Given the description of an element on the screen output the (x, y) to click on. 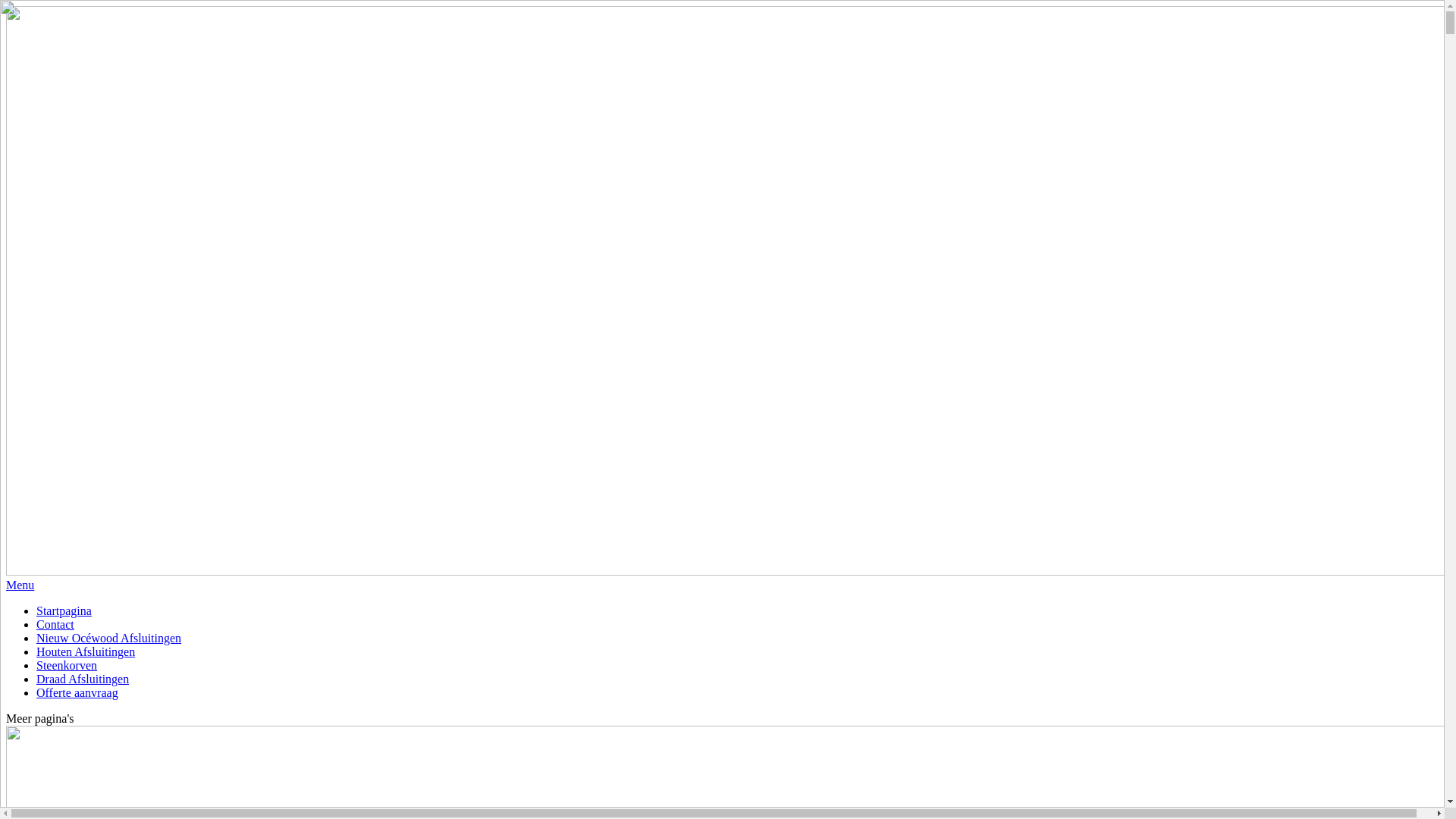
Startpagina Element type: text (63, 610)
Menu Element type: text (20, 584)
Steenkorven Element type: text (66, 664)
Offerte aanvraag Element type: text (77, 692)
Draad Afsluitingen Element type: text (82, 678)
Houten Afsluitingen Element type: text (85, 651)
Contact Element type: text (55, 624)
